Given the description of an element on the screen output the (x, y) to click on. 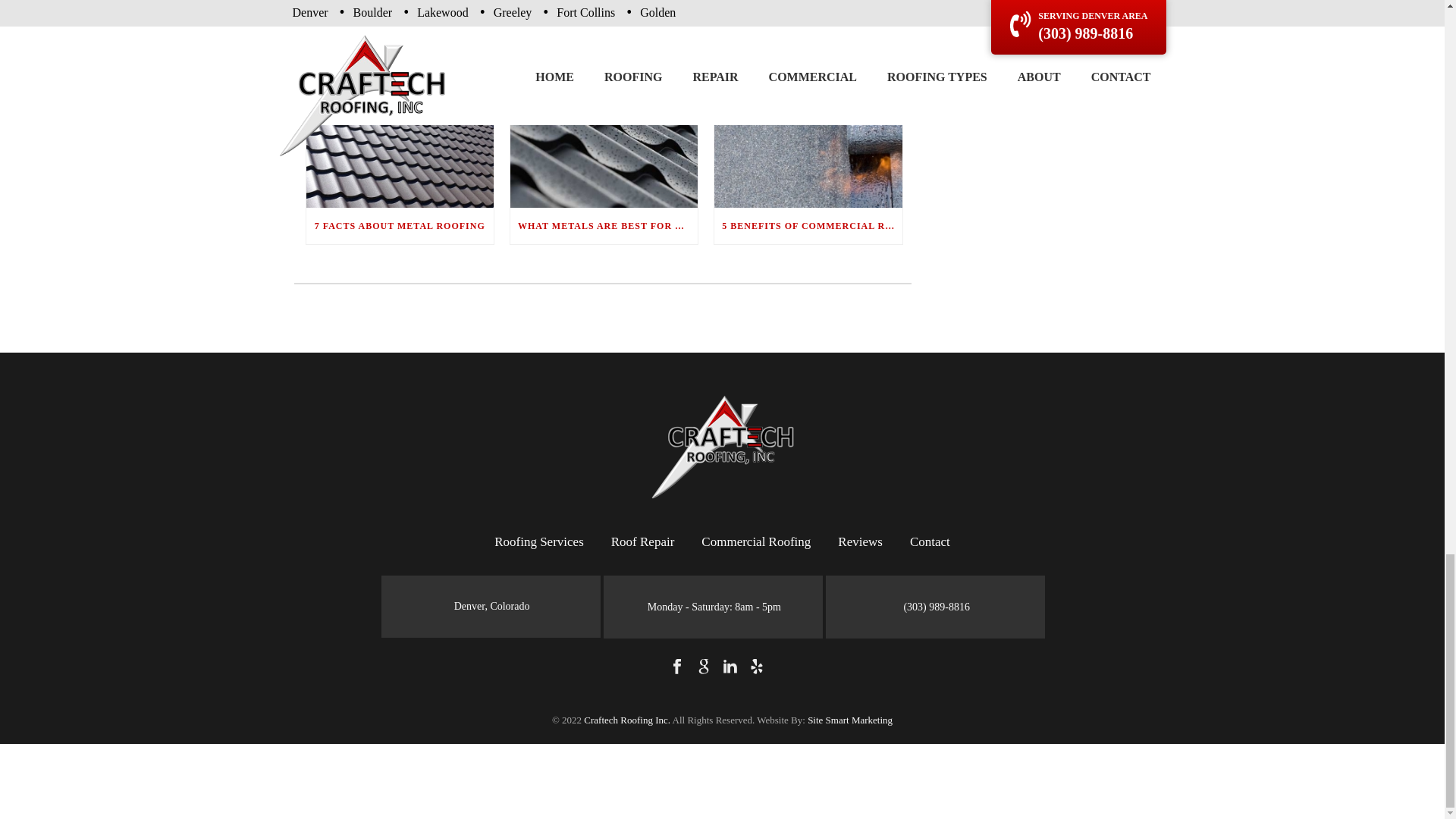
7 Facts About Metal Roofing (399, 126)
What Metals Are Best For Residential Roofing? (604, 126)
Follow Us on facebook (676, 667)
5 Benefits Of Commercial Roof Maintenance Plans (807, 126)
Follow Us on google (703, 667)
Craftech Roofing (721, 446)
